Given the description of an element on the screen output the (x, y) to click on. 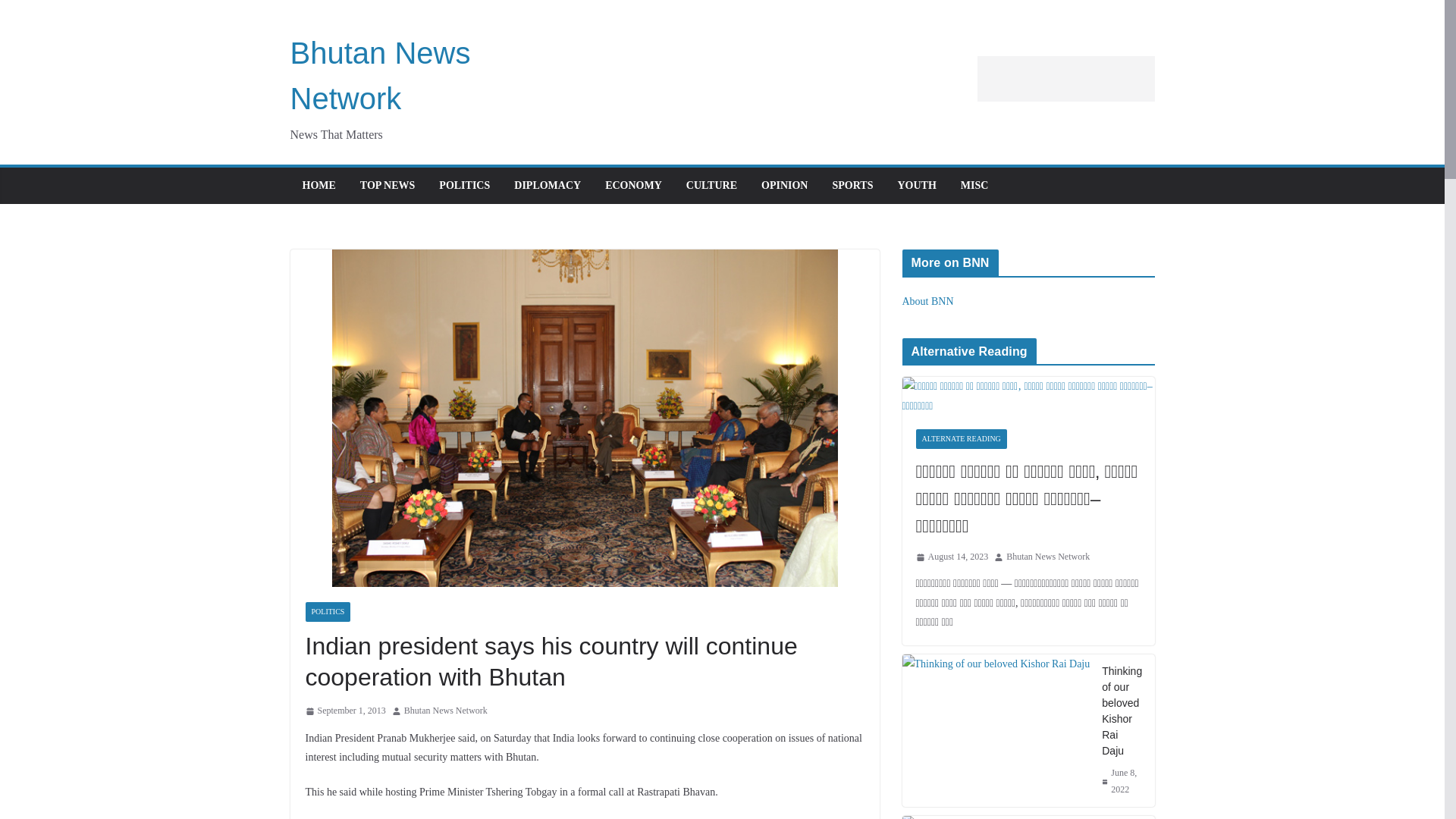
About BNN (927, 301)
POLITICS (327, 611)
SPORTS (851, 185)
ALTERNATE READING (961, 438)
11:45 am (344, 710)
OPINION (784, 185)
HOME (317, 185)
Bhutan News Network (379, 75)
Bhutan News Network (445, 710)
June 8, 2022 (1121, 780)
